Given the description of an element on the screen output the (x, y) to click on. 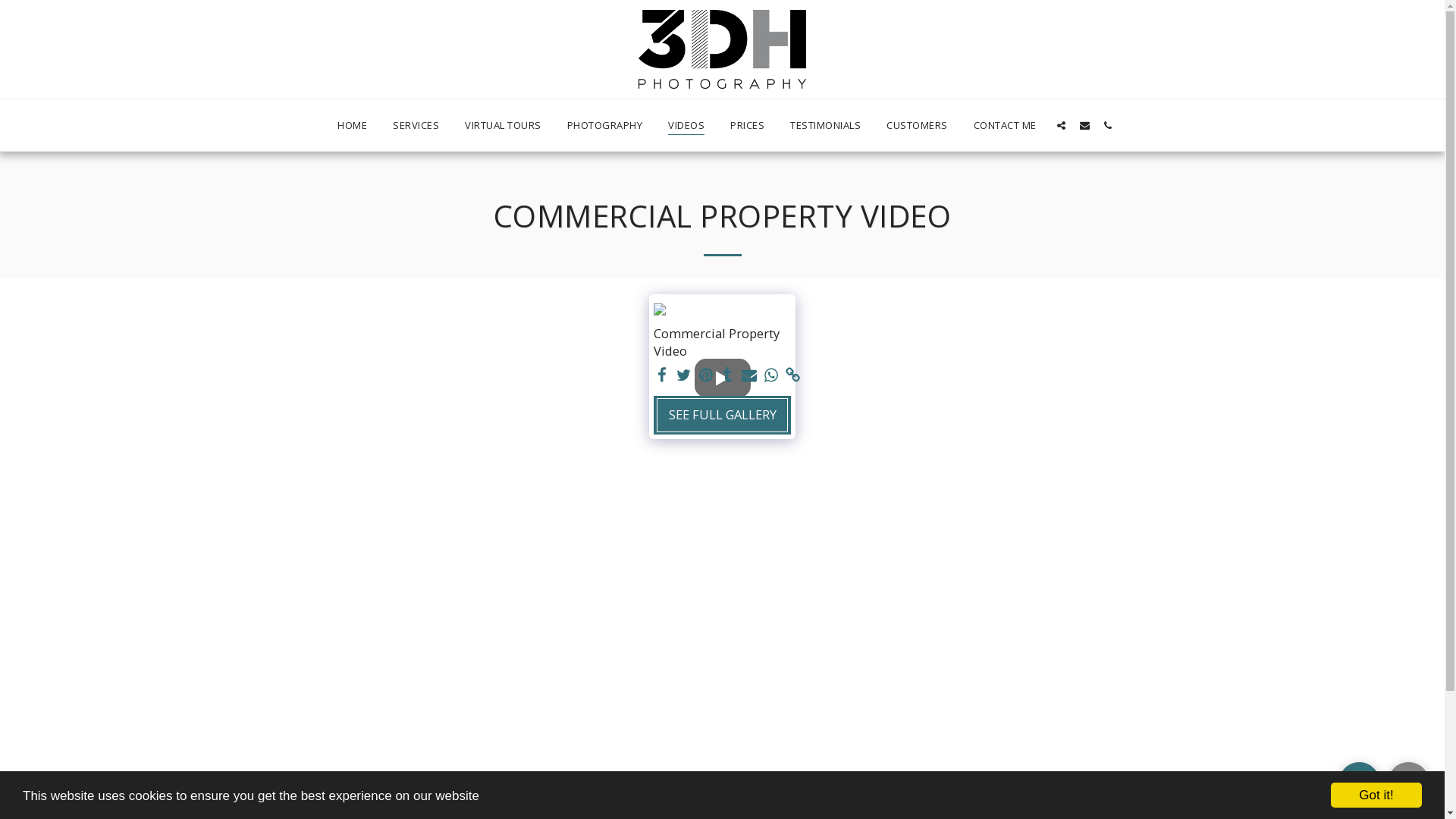
TESTIMONIALS Element type: text (825, 124)
  Element type: text (727, 375)
Share by Email Element type: hover (749, 375)
  Element type: text (705, 375)
Share on Facebook Element type: hover (661, 375)
  Element type: text (661, 375)
  Element type: text (1061, 124)
VIDEOS Element type: text (685, 124)
tumblr Element type: hover (727, 375)
  Element type: text (793, 375)
  Element type: text (1408, 782)
  Element type: text (1084, 124)
VIRTUAL TOURS Element type: text (502, 124)
  Element type: text (683, 375)
  Element type: text (771, 375)
CUSTOMERS Element type: text (917, 124)
  Element type: text (749, 375)
CONTACT ME Element type: text (1004, 124)
PRICES Element type: text (747, 124)
  Element type: text (1359, 782)
SERVICES Element type: text (415, 124)
HOME Element type: text (352, 124)
PHOTOGRAPHY Element type: text (605, 124)
Got it! Element type: text (1375, 794)
whatsapp Element type: hover (771, 375)
SEE FULL GALLERY Element type: text (721, 415)
  Element type: text (722, 377)
Tweet Element type: hover (683, 375)
  Element type: text (1108, 124)
link Element type: hover (793, 375)
Pin it Element type: hover (705, 375)
